Given the description of an element on the screen output the (x, y) to click on. 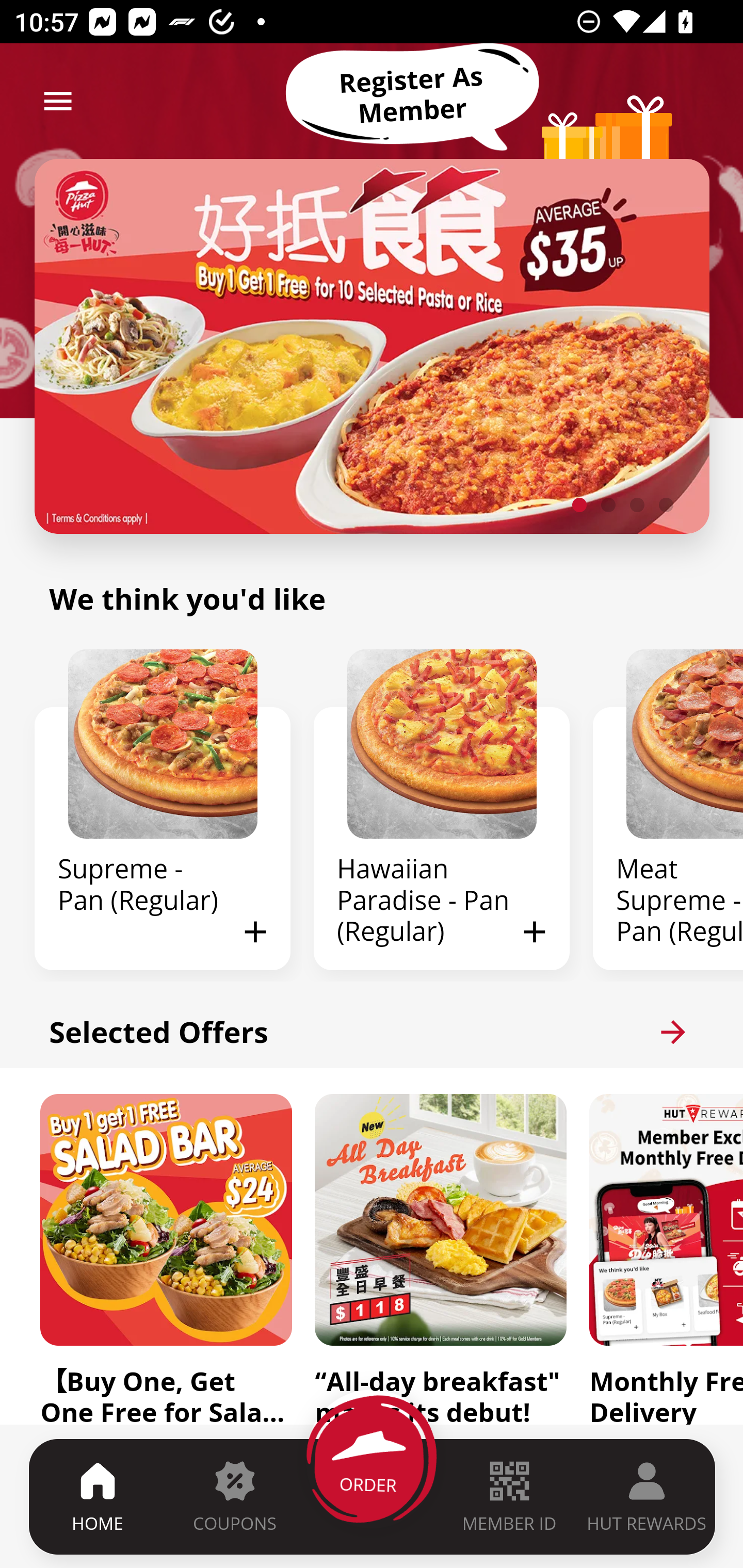
Register As Member (411, 95)
menu (58, 100)
arrow_forward (672, 1031)
HOME (97, 1496)
COUPONS (234, 1496)
ORDER (372, 1496)
MEMBER ID (509, 1496)
HUT REWARDS (647, 1496)
